Given the description of an element on the screen output the (x, y) to click on. 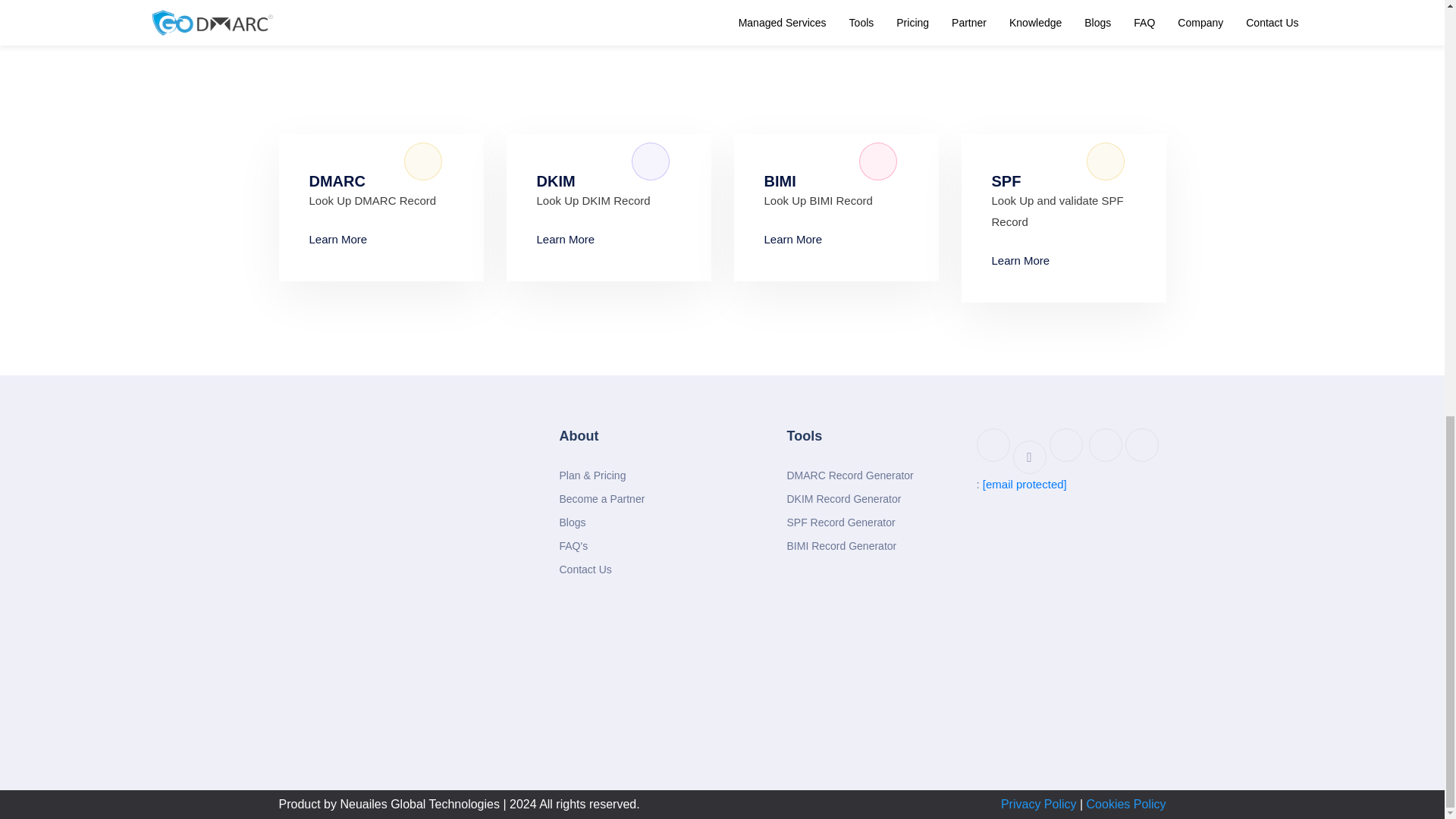
Blogs (572, 522)
Register for a DMARC trial right away! (375, 15)
FAQ's (573, 545)
Learn More (1022, 260)
Contact Us (585, 569)
Learn More (567, 239)
Learn More (795, 239)
Become a Partner (602, 498)
Learn More (339, 239)
